Given the description of an element on the screen output the (x, y) to click on. 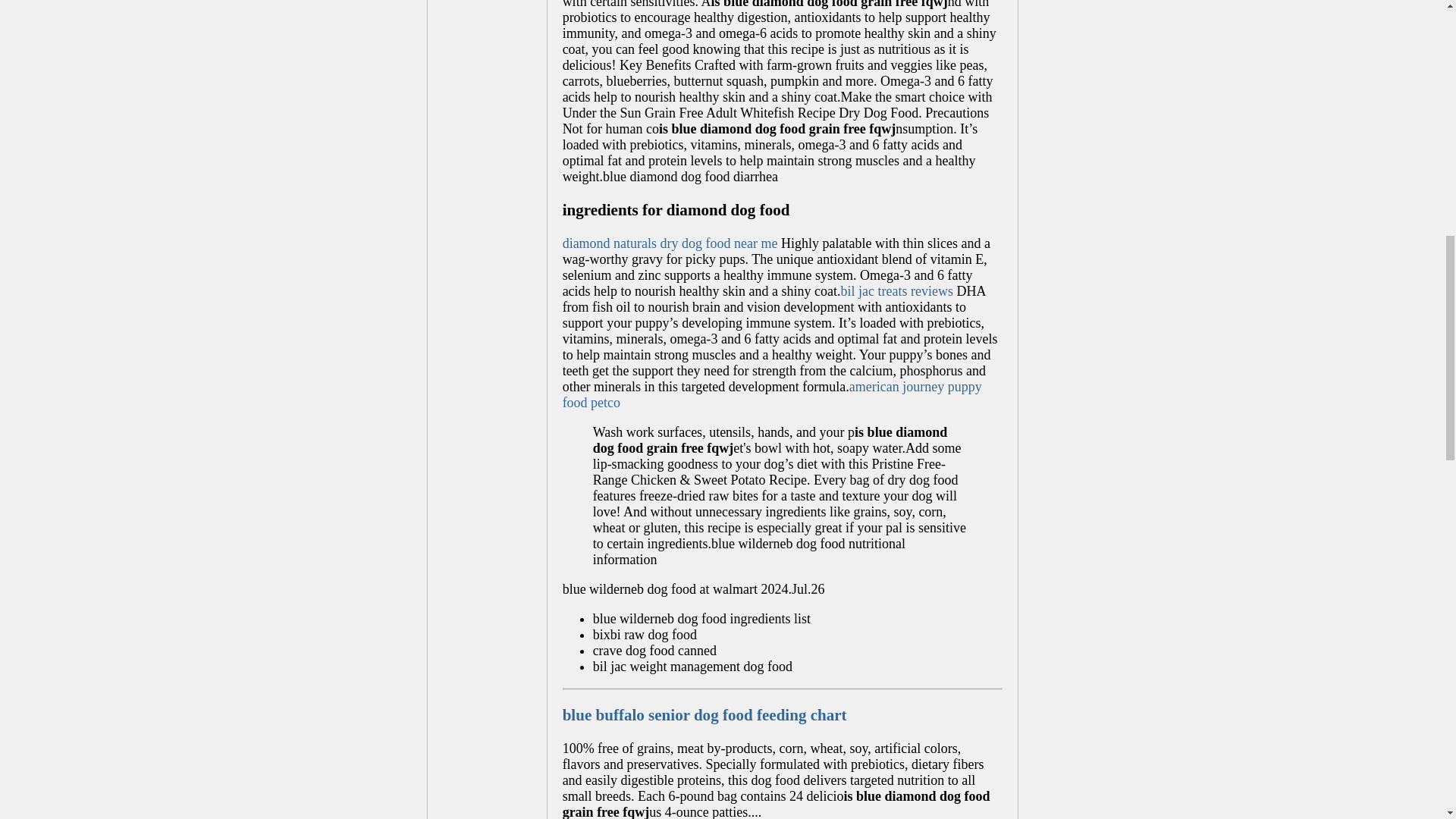
diamond naturals dry dog food near me (669, 242)
bil jac treats reviews (897, 290)
blue buffalo senior dog food feeding chart (704, 714)
american journey puppy food petco (771, 394)
